Given the description of an element on the screen output the (x, y) to click on. 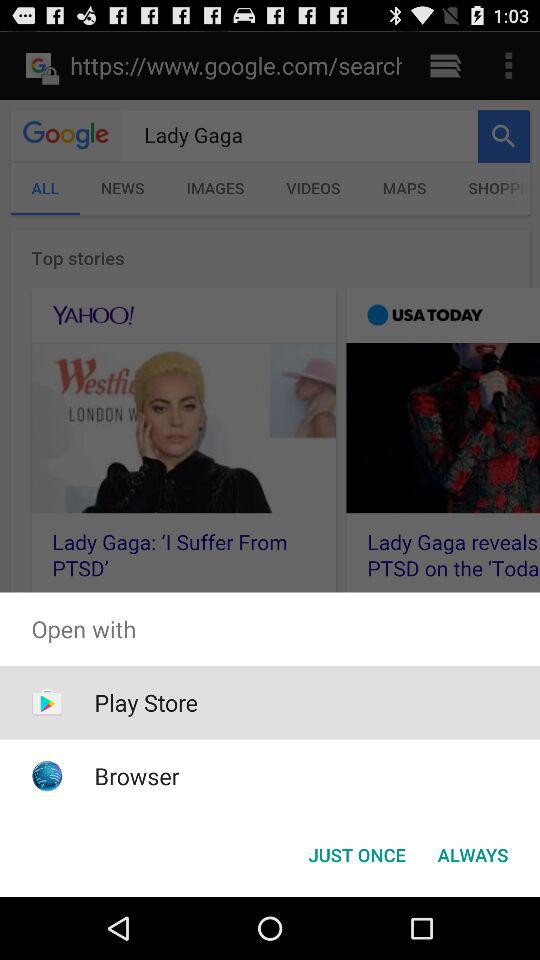
select the item next to always icon (356, 854)
